Given the description of an element on the screen output the (x, y) to click on. 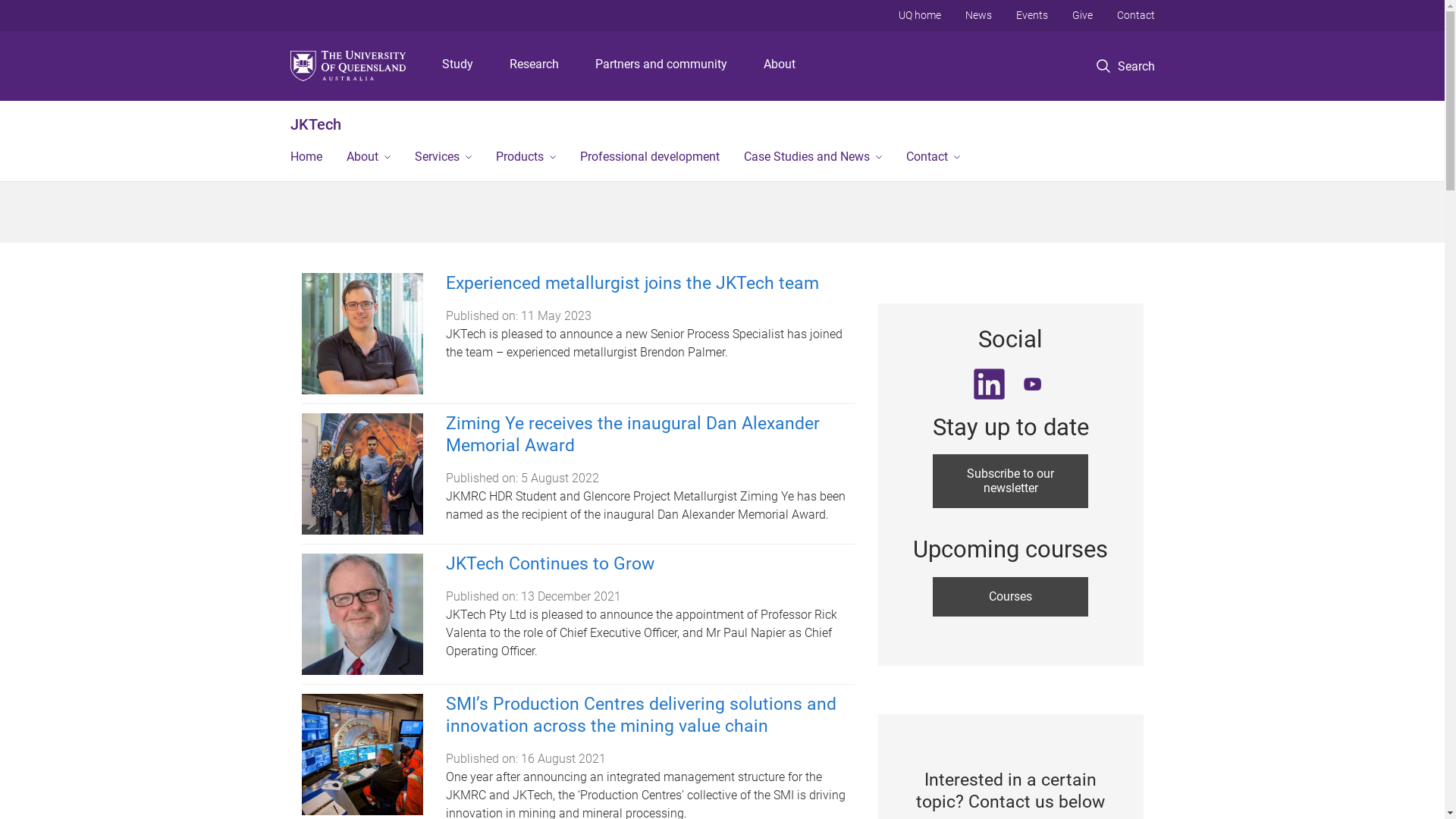
Home Element type: text (305, 158)
Services Element type: text (442, 158)
Research Element type: text (533, 65)
Search Element type: text (1140, 117)
Professional development Element type: text (649, 158)
Skip to menu Element type: text (721, 0)
Products Element type: text (525, 158)
Events Element type: text (1032, 15)
JKTech Continues to Grow Element type: text (549, 563)
Contact Element type: text (1135, 15)
News Element type: text (977, 15)
Subscribe to our newsletter Element type: text (1010, 481)
Experienced metallurgist joins the JKTech team Element type: text (632, 283)
Case Studies and News Element type: text (812, 158)
Partners and community Element type: text (661, 65)
Give Element type: text (1082, 15)
Search Element type: text (1125, 66)
About Element type: text (367, 158)
Contact Element type: text (932, 158)
About Element type: text (779, 65)
UQ home Element type: text (918, 15)
JKTech Element type: text (314, 124)
Study Element type: text (457, 65)
Courses Element type: text (1010, 596)
